Given the description of an element on the screen output the (x, y) to click on. 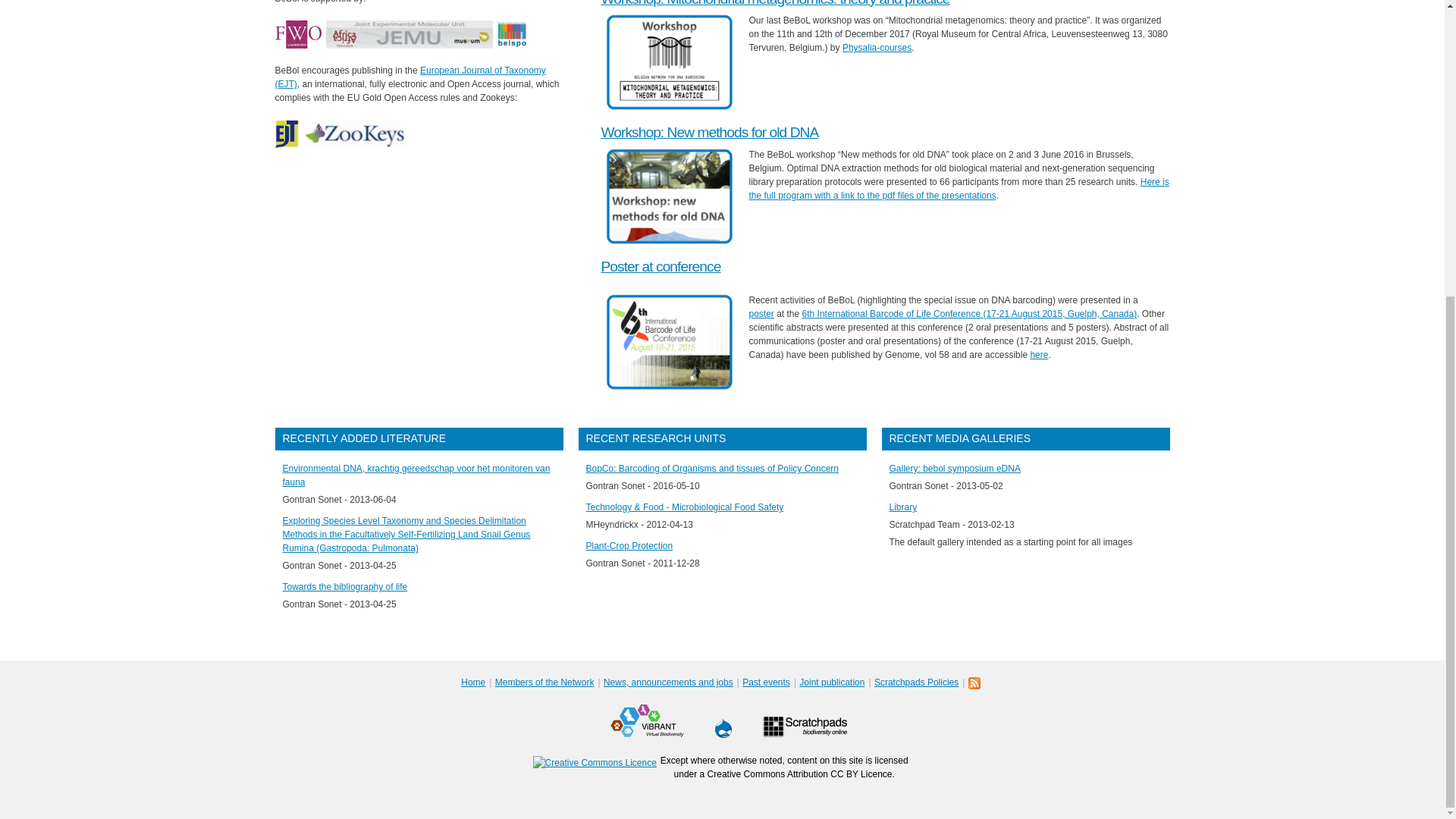
poster (761, 313)
Poster at conference (659, 266)
Physalia-courses (877, 47)
Workshop: Mitochondrial metagenomics: theory and practice (774, 3)
here (1038, 354)
workshop old DNA.png (669, 196)
FWO - logo.jpg (297, 34)
Workshop: New methods for old DNA (708, 132)
Logo Belspo White EN.jpg (511, 34)
Bebol workshop metagenomics.png (669, 61)
Workshop: New methods for old DNA (708, 132)
Workshop: Mitochondrial metagenomics: theory and practice (774, 3)
